Given the description of an element on the screen output the (x, y) to click on. 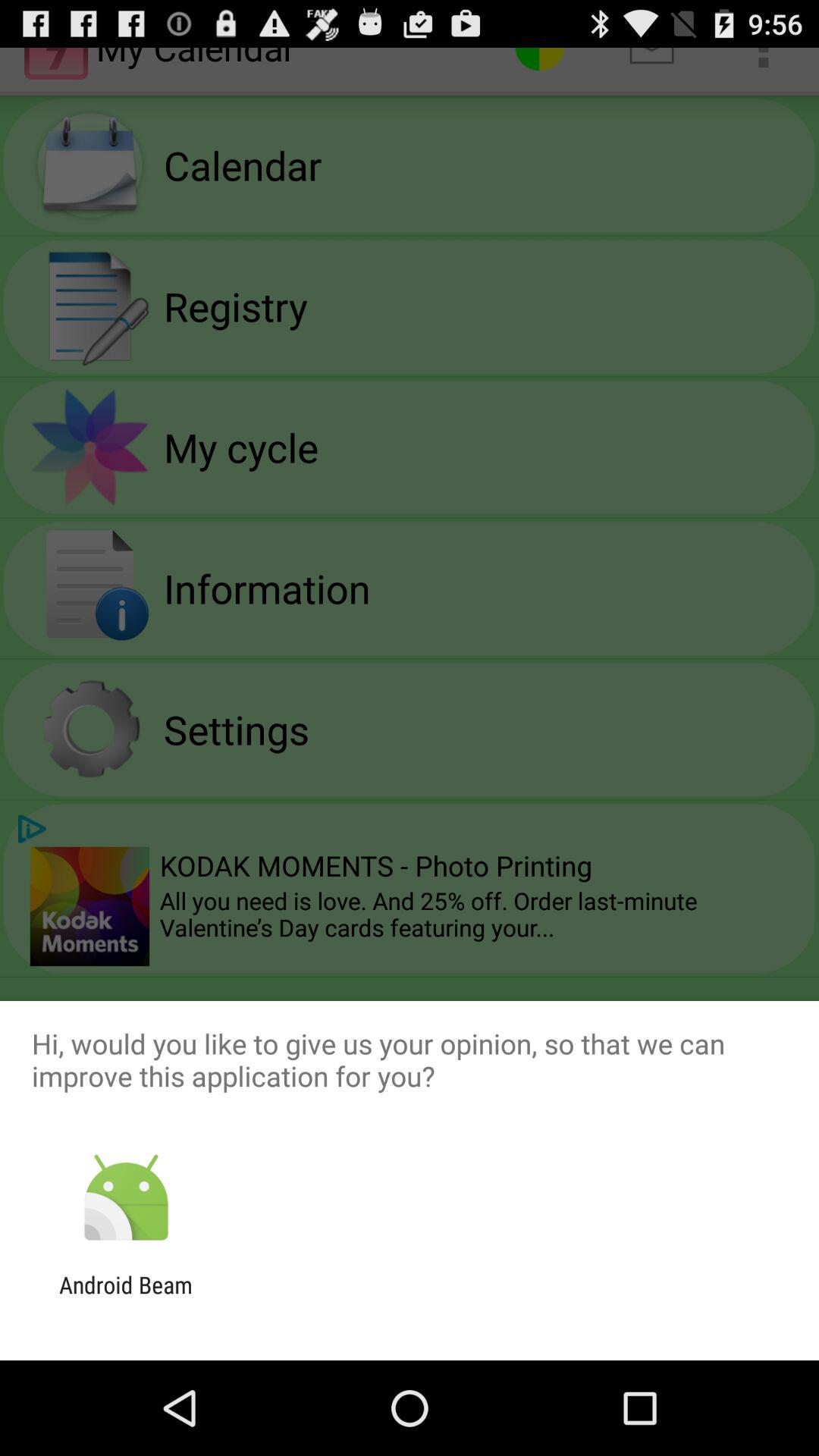
press the item above android beam item (126, 1198)
